Given the description of an element on the screen output the (x, y) to click on. 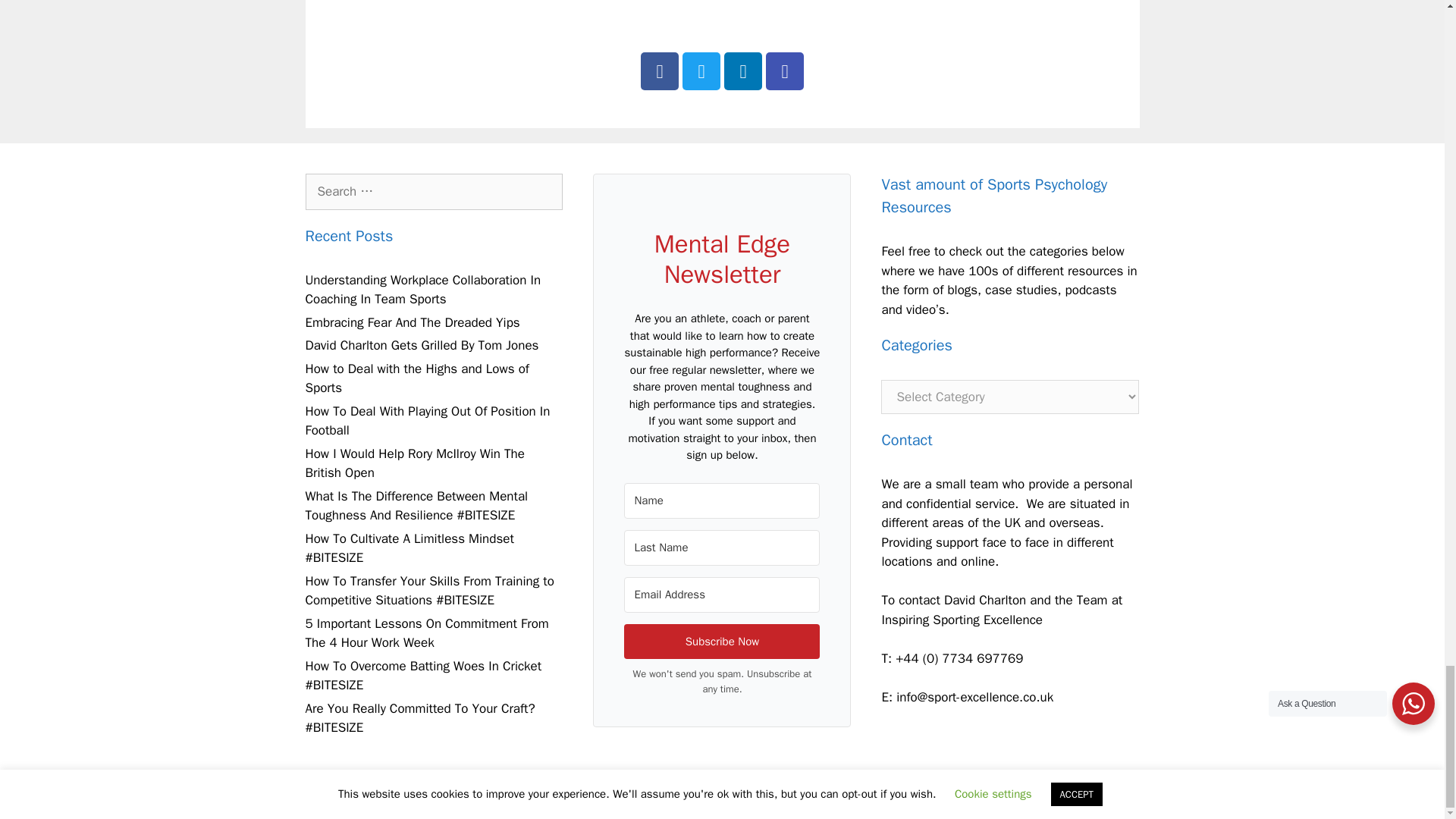
Search for: (433, 191)
